Given the description of an element on the screen output the (x, y) to click on. 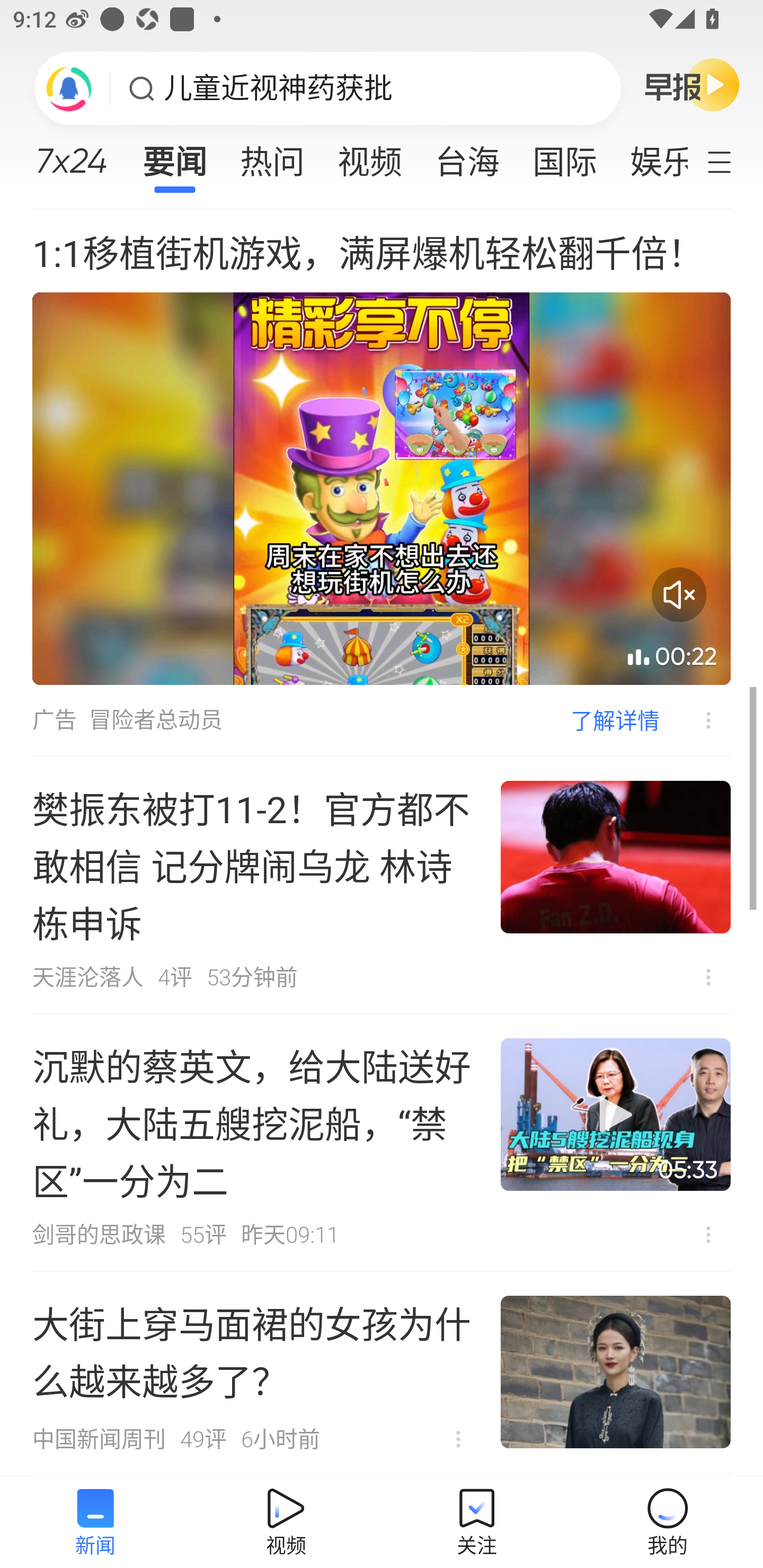
早晚报 (691, 84)
刷新 (68, 88)
儿童近视神药获批 (278, 88)
7x24 (70, 154)
要闻 (174, 155)
热问 (272, 155)
视频 (369, 155)
台海 (466, 155)
国际 (564, 155)
娱乐 (650, 155)
 定制频道 (731, 160)
00:23 音量开关 (381, 488)
音量开关 (678, 594)
 不感兴趣 (694, 720)
了解详情 (614, 720)
广告 (54, 720)
冒险者总动员 (155, 720)
 不感兴趣 (707, 977)
 不感兴趣 (707, 1234)
大街上穿马面裙的女孩为什么越来越多了？ 中国新闻周刊 49评 6小时前  不感兴趣 (381, 1372)
 不感兴趣 (458, 1439)
